Given the description of an element on the screen output the (x, y) to click on. 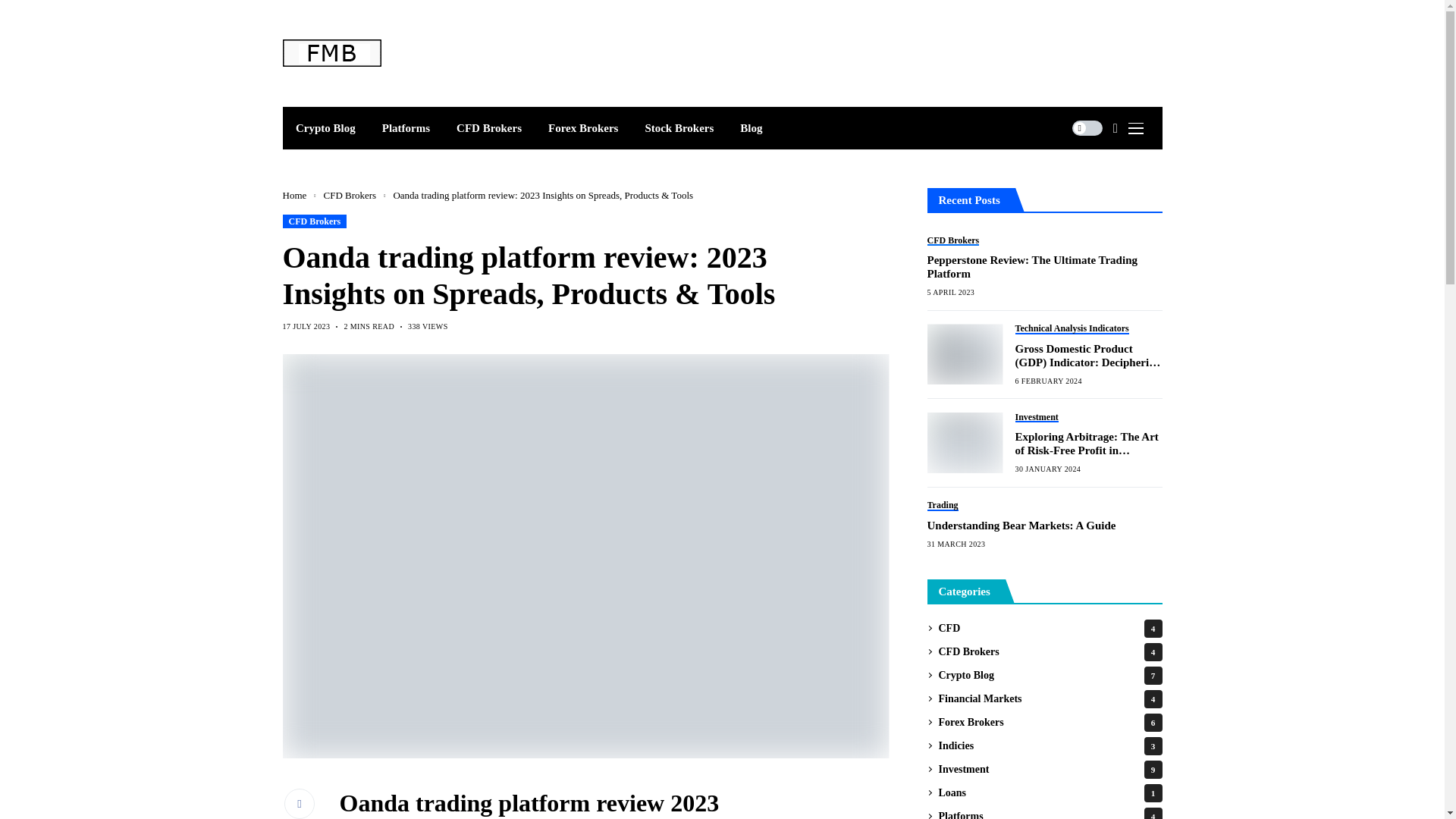
Crypto Blog (325, 128)
Forex Brokers (583, 128)
Stock Brokers (678, 128)
Blog (751, 128)
Platforms (405, 128)
CFD Brokers (489, 128)
